Given the description of an element on the screen output the (x, y) to click on. 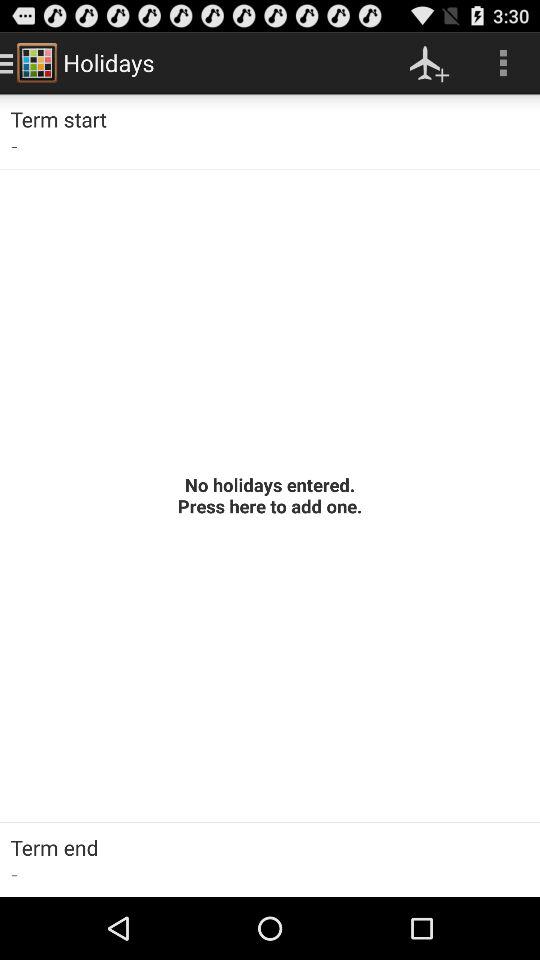
press app to the right of the holidays (429, 62)
